Given the description of an element on the screen output the (x, y) to click on. 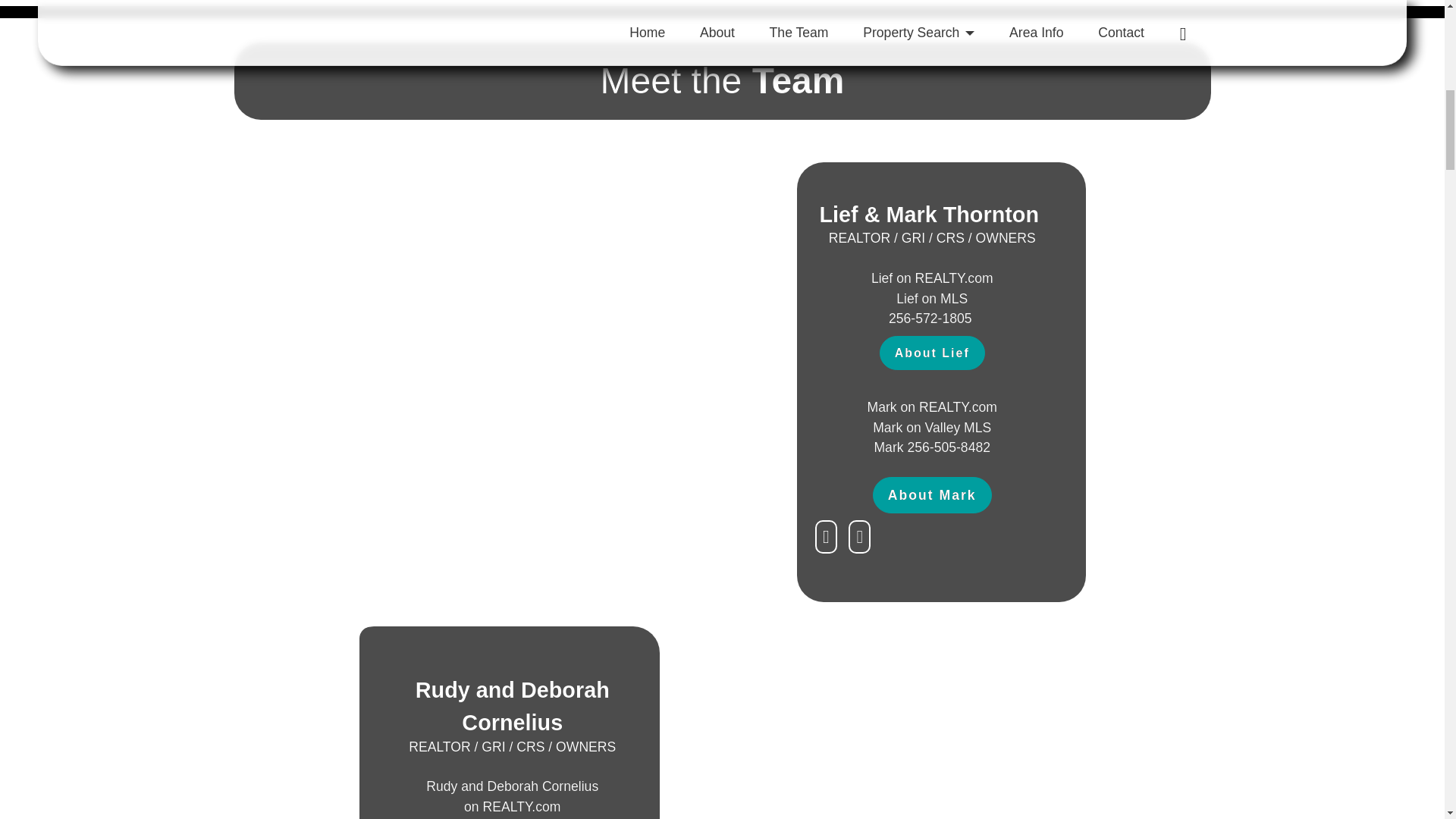
About Lief (932, 352)
Lief on REALTY.com (931, 278)
Lief on MLS (512, 796)
256-572-1805  (932, 298)
Mark 256-505-8482 (931, 318)
Mark on Valley MLS (931, 447)
About Mark (931, 427)
Mark on REALTY.com (931, 494)
